Given the description of an element on the screen output the (x, y) to click on. 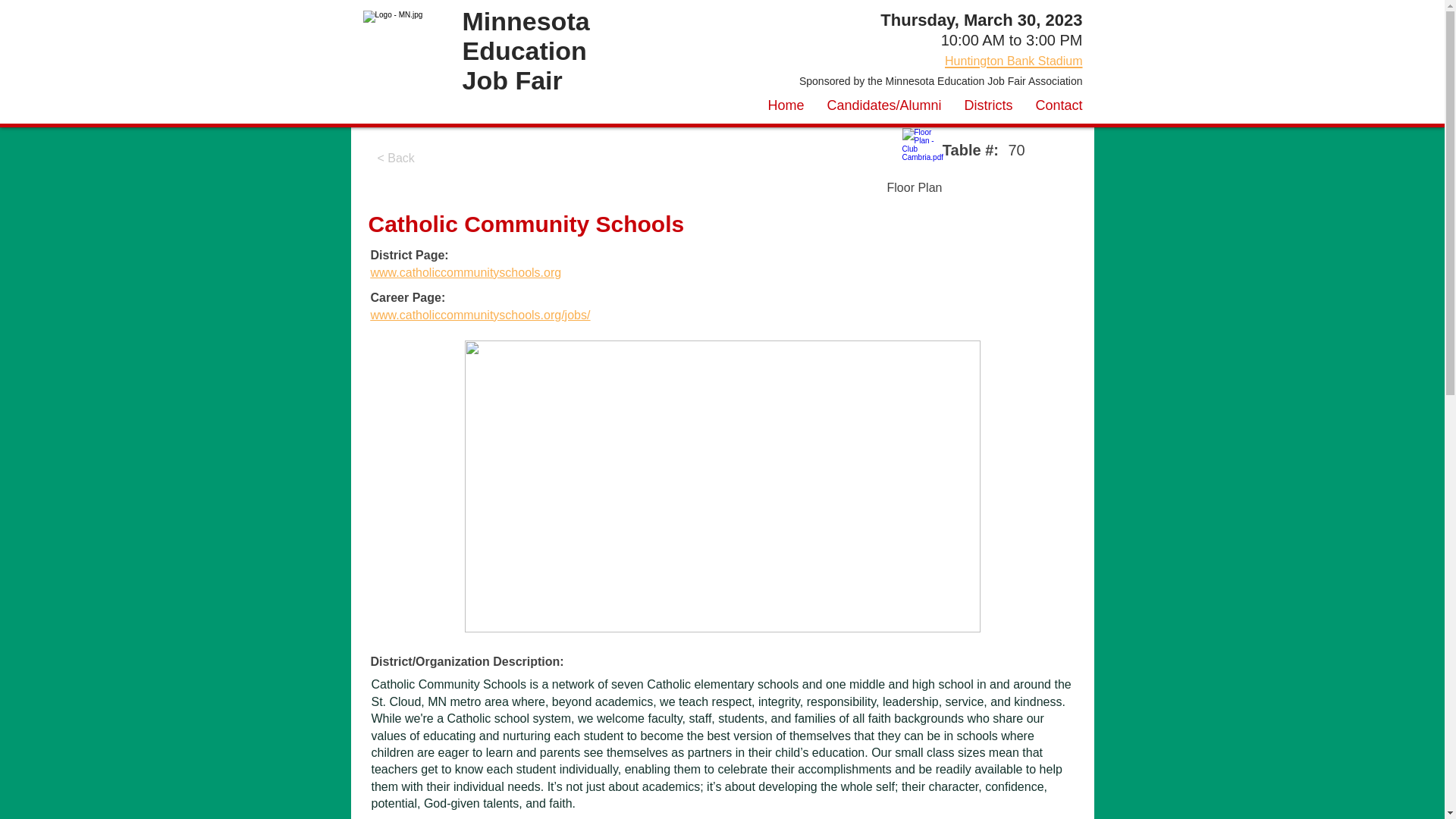
Home (786, 105)
Huntington Bank Stadium (1012, 58)
Contact (1058, 105)
www.catholiccommunityschools.org (464, 272)
Districts (987, 105)
